Given the description of an element on the screen output the (x, y) to click on. 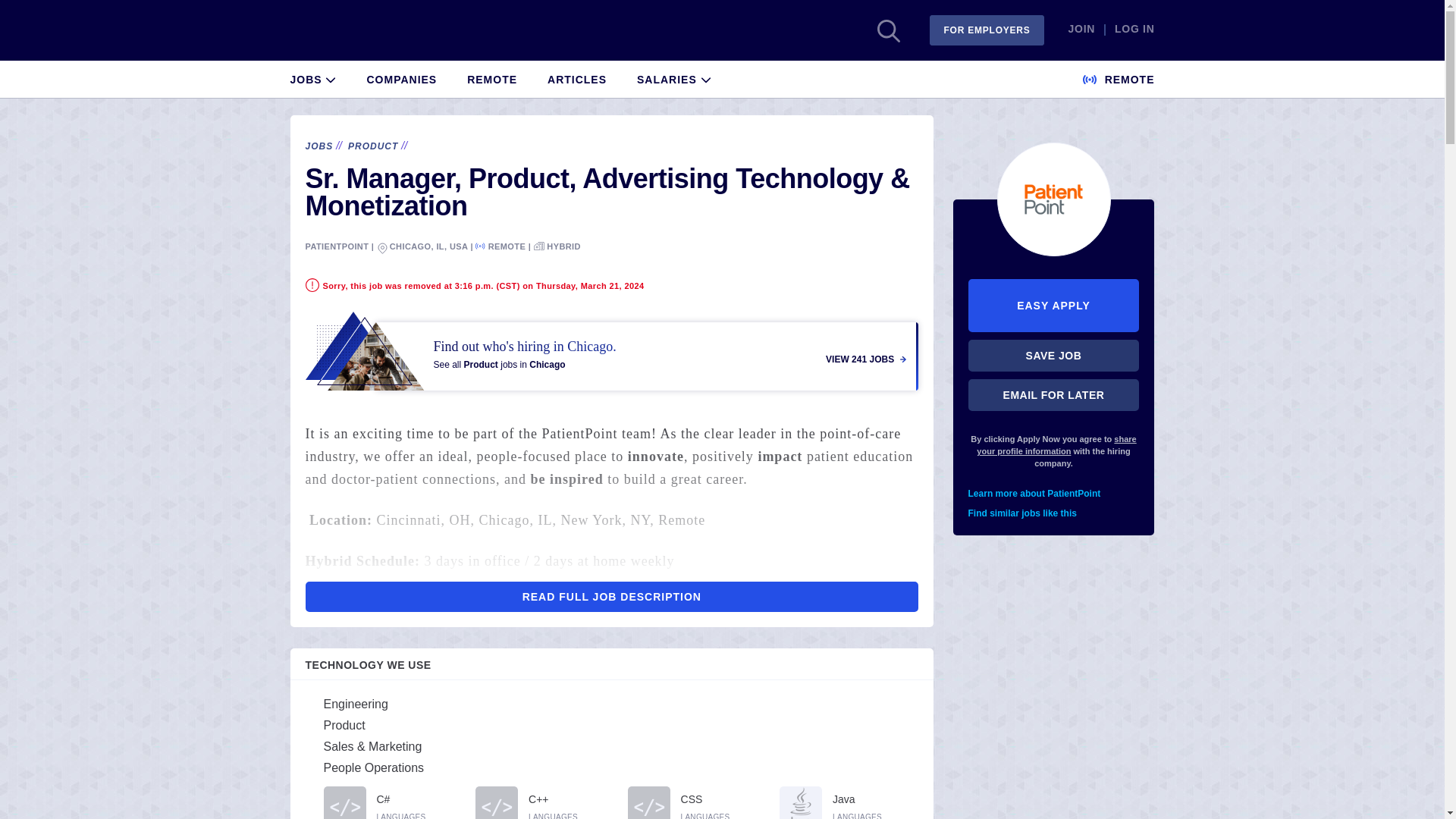
LOG IN (1134, 29)
Learn more about PatientPoint (1054, 494)
PRODUCT (372, 146)
COMPANIES (401, 77)
SAVE JOB (1054, 355)
REMOTE (1118, 77)
FOR EMPLOYERS (986, 30)
share your profile information (1055, 444)
SALARIES (674, 77)
Built In Chicago (341, 29)
REMOTE (491, 77)
JOBS (312, 77)
ARTICLES (577, 77)
JOBS (318, 146)
